Given the description of an element on the screen output the (x, y) to click on. 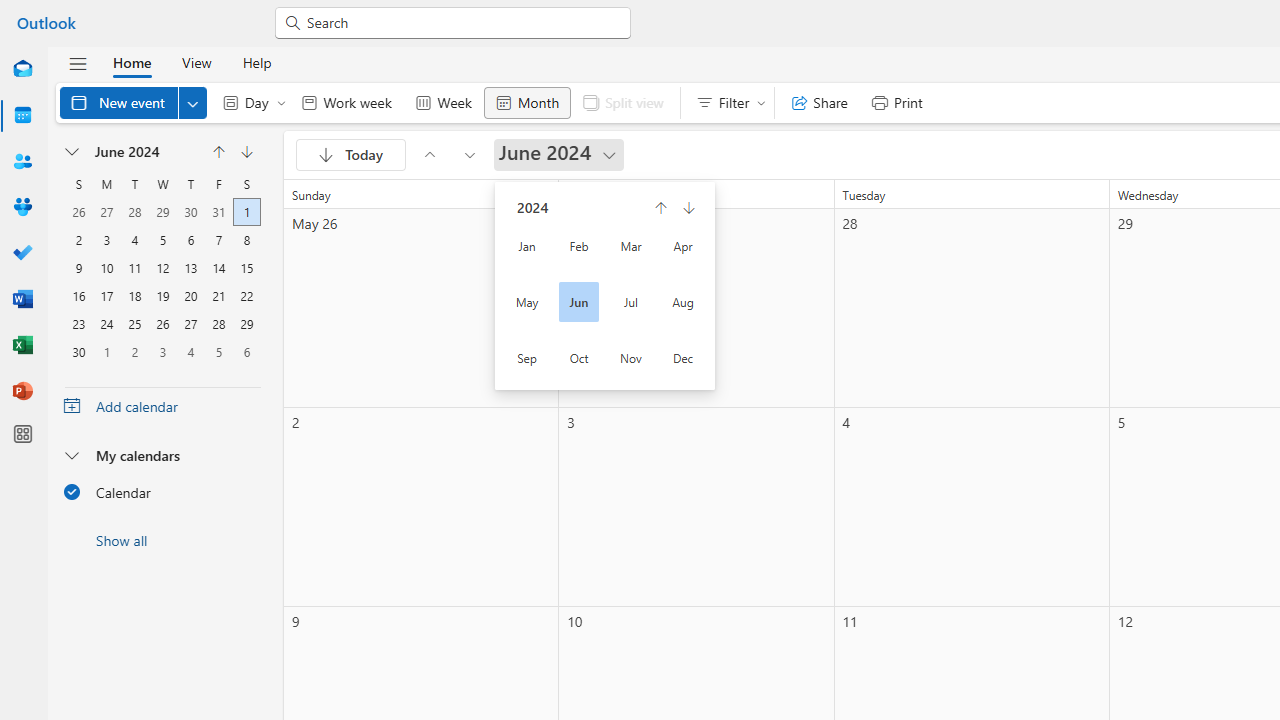
Go to today August 27, 2024 (350, 154)
Help (256, 61)
30, June, 2024 (78, 349)
29, May, 2024 (163, 210)
4, July, 2024 (191, 349)
System (10, 11)
2, June, 2024 (79, 237)
3, July, 2024 (163, 349)
Go to next month July (246, 152)
28, May, 2024 (134, 210)
26, May, 2024 (78, 210)
27, May, 2024 (107, 209)
15, June, 2024 (246, 266)
28, June, 2024 (218, 322)
26, June, 2024 (163, 322)
